Given the description of an element on the screen output the (x, y) to click on. 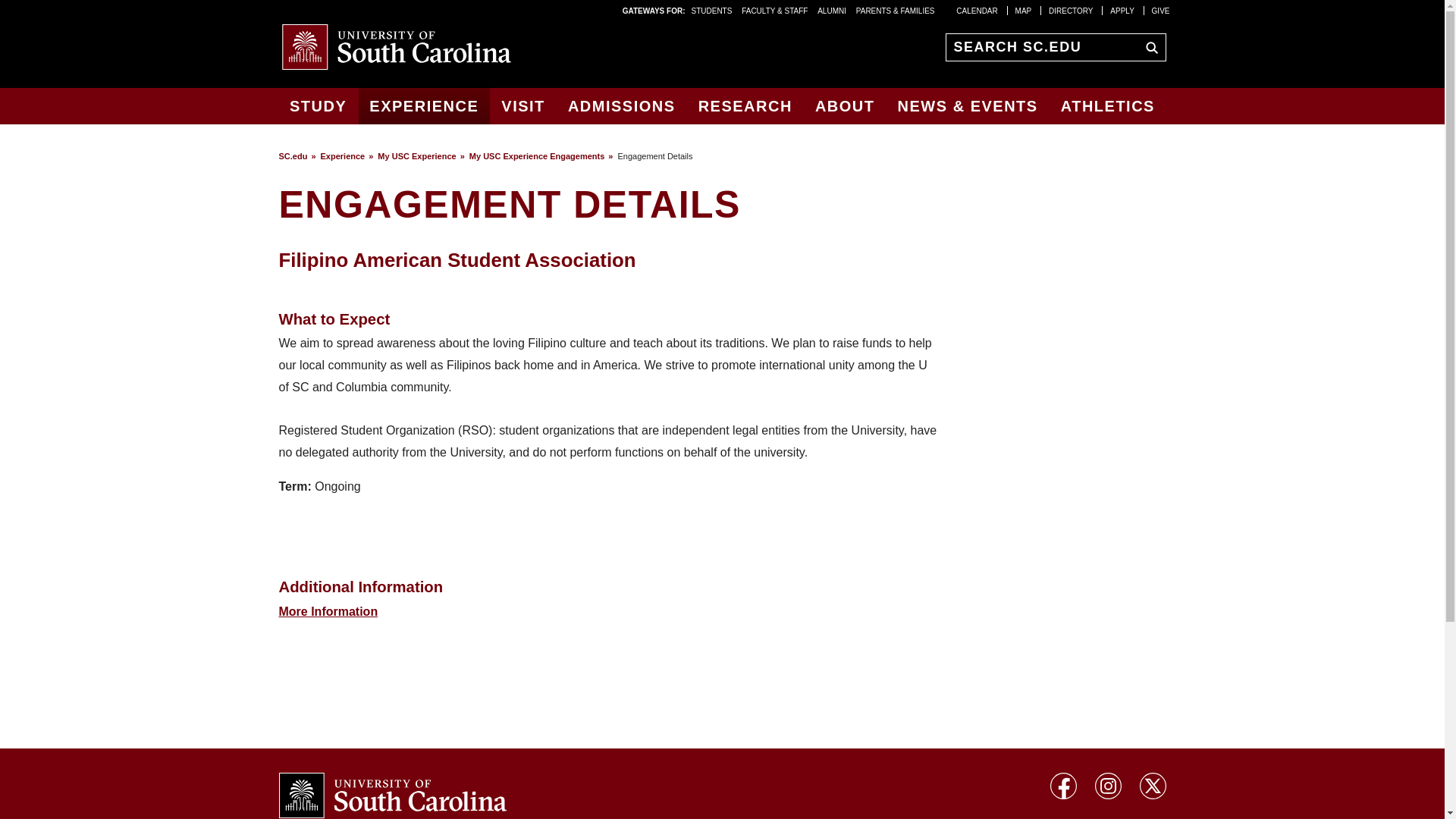
EXPERIENCE (423, 105)
STUDY (318, 105)
DIRECTORY (1070, 9)
ALUMNI (830, 9)
GIVE (1160, 9)
GO (1148, 46)
GO (1148, 46)
sc.edu Search (1148, 46)
CALENDAR (976, 9)
MAP (1023, 9)
VISIT (523, 105)
APPLY (1121, 9)
STUDENTS (713, 9)
